Given the description of an element on the screen output the (x, y) to click on. 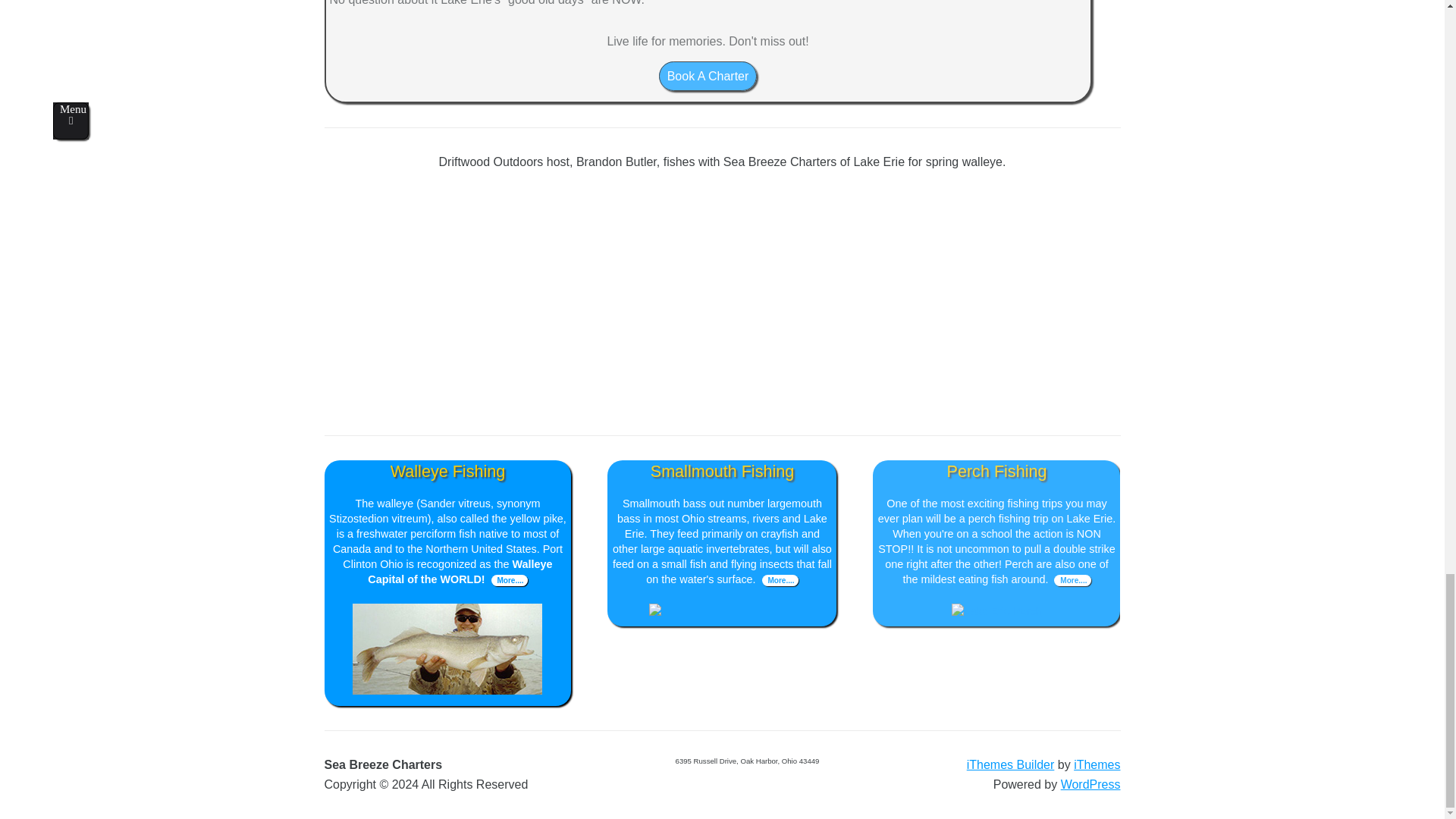
Walleye Fishing Charters (509, 579)
iThemes Builder (1010, 764)
Perch Fishing Charters (1072, 579)
More.... (1072, 579)
iThemes WordPress Themes (1096, 764)
More.... (779, 579)
More.... (509, 579)
Smallmouth Bass Charters (721, 611)
iThemes (1096, 764)
Walleye Fishing Charters (446, 690)
